Given the description of an element on the screen output the (x, y) to click on. 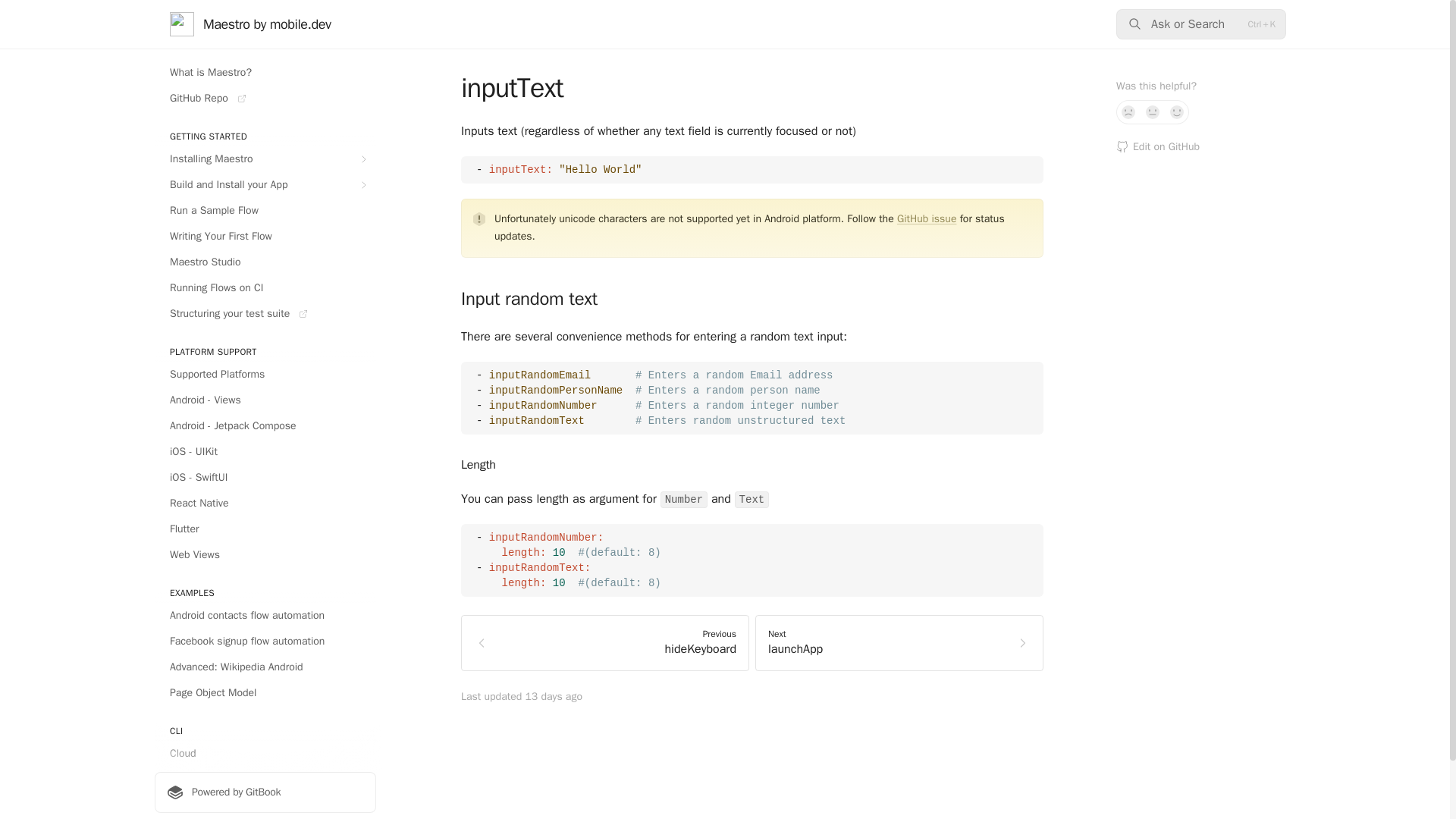
Advanced: Wikipedia Android (264, 667)
Facebook signup flow automation (264, 641)
Tags (264, 805)
No (1128, 111)
iOS - SwiftUI (264, 477)
Cloud (264, 753)
Page Object Model (264, 692)
Running Flows on CI (264, 288)
Android - Jetpack Compose (264, 426)
Build and Install your App (264, 184)
Not sure (1152, 111)
Writing Your First Flow (264, 236)
React Native (264, 503)
What is Maestro? (264, 72)
Maestro by mobile.dev (250, 24)
